Given the description of an element on the screen output the (x, y) to click on. 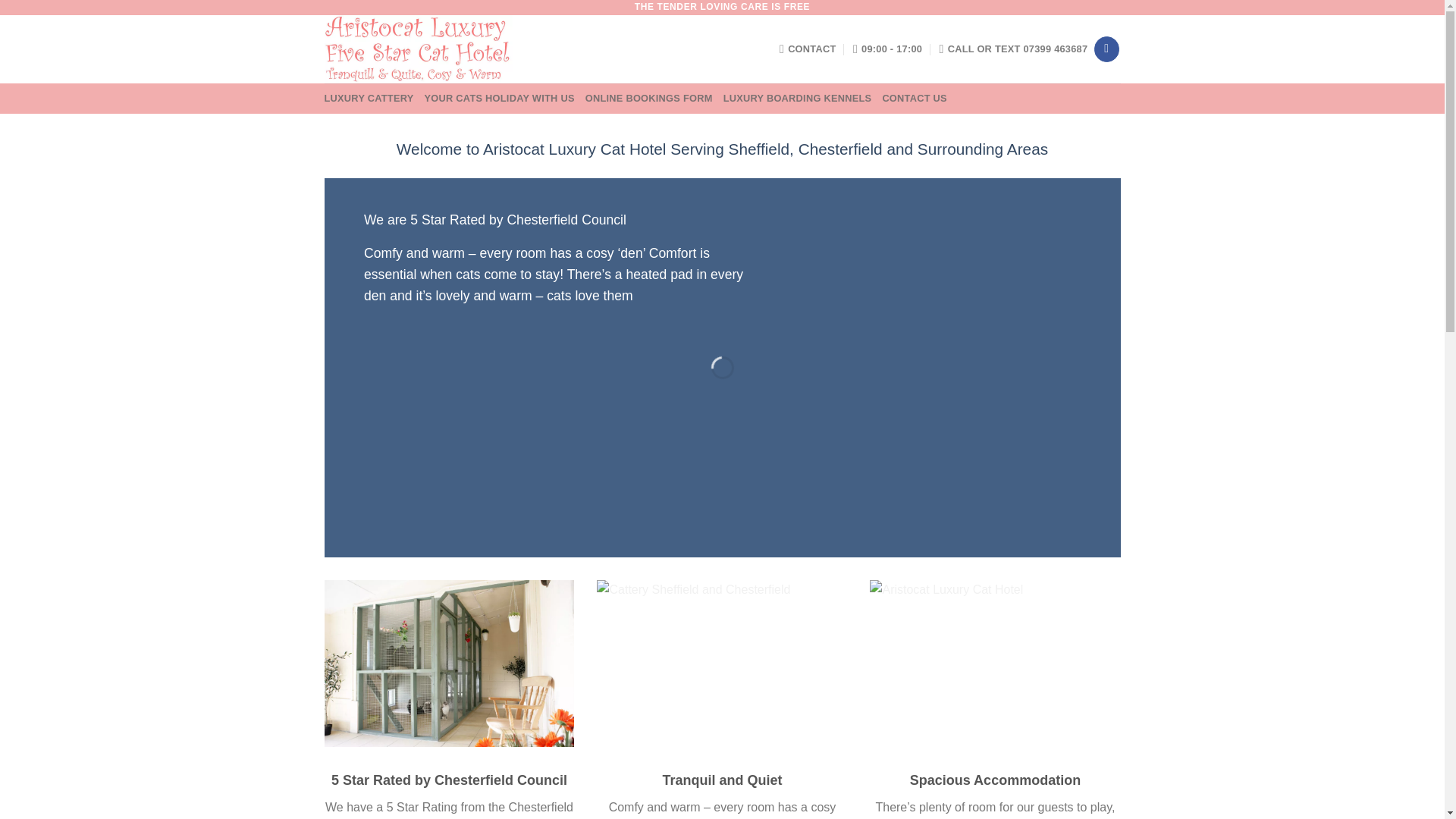
09:00 - 17:00 (887, 49)
CALL OR TEXT 07399 463687 (1013, 49)
09:00 - 17:00 (887, 49)
ONLINE BOOKINGS FORM (649, 98)
LUXURY CATTERY (368, 98)
YOUR CATS HOLIDAY WITH US (500, 98)
Call or Text 07399 463687 (1013, 49)
Follow on Facebook (1106, 49)
LUXURY BOARDING KENNELS (797, 98)
CONTACT (806, 49)
Aristocat Luxury Cat Hotel - Luxury Cattery (472, 49)
CONTACT US (914, 98)
